Given the description of an element on the screen output the (x, y) to click on. 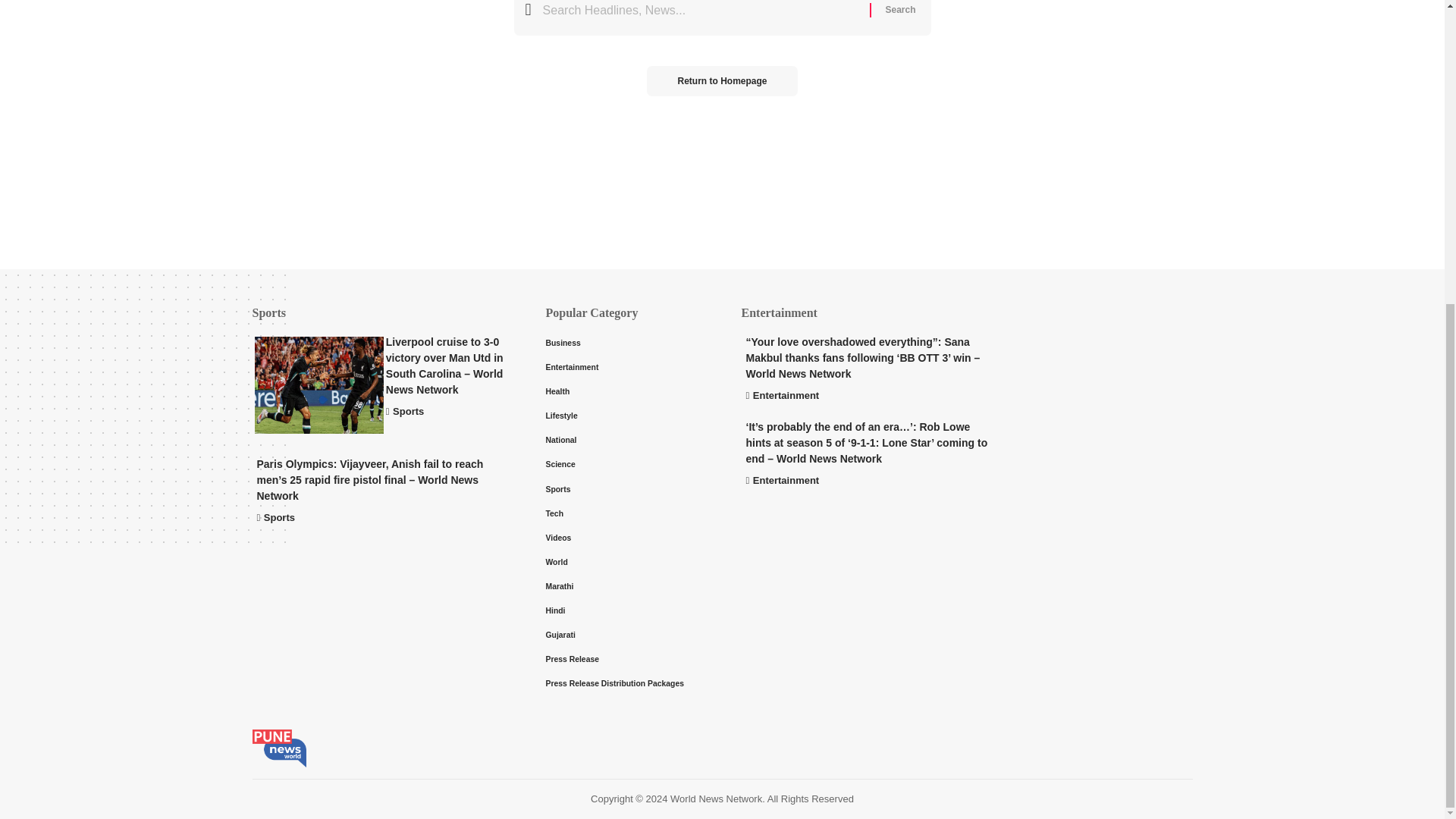
Search (899, 18)
Latest World News Update (278, 748)
